Given the description of an element on the screen output the (x, y) to click on. 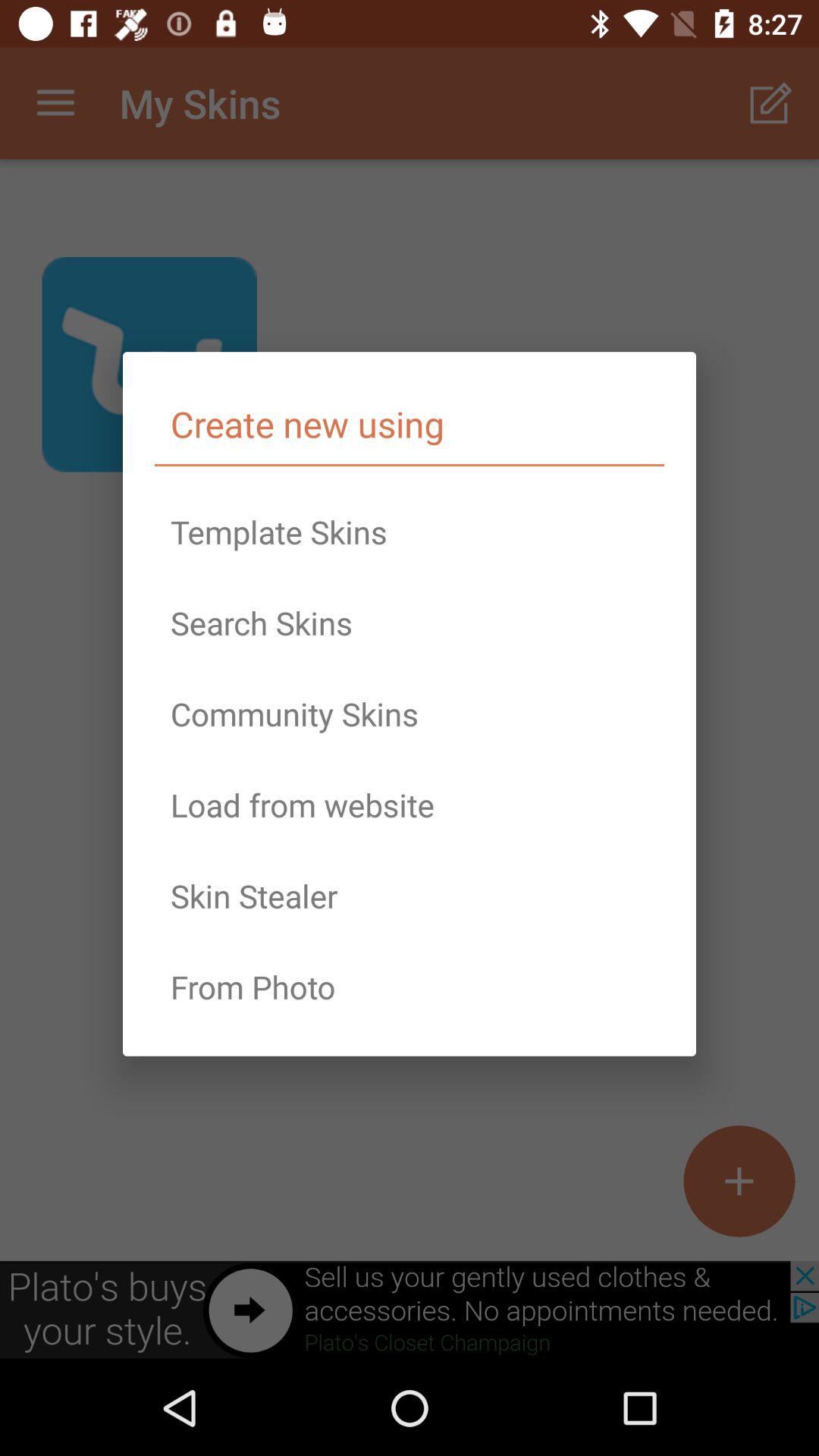
launch the community skins icon (409, 713)
